Given the description of an element on the screen output the (x, y) to click on. 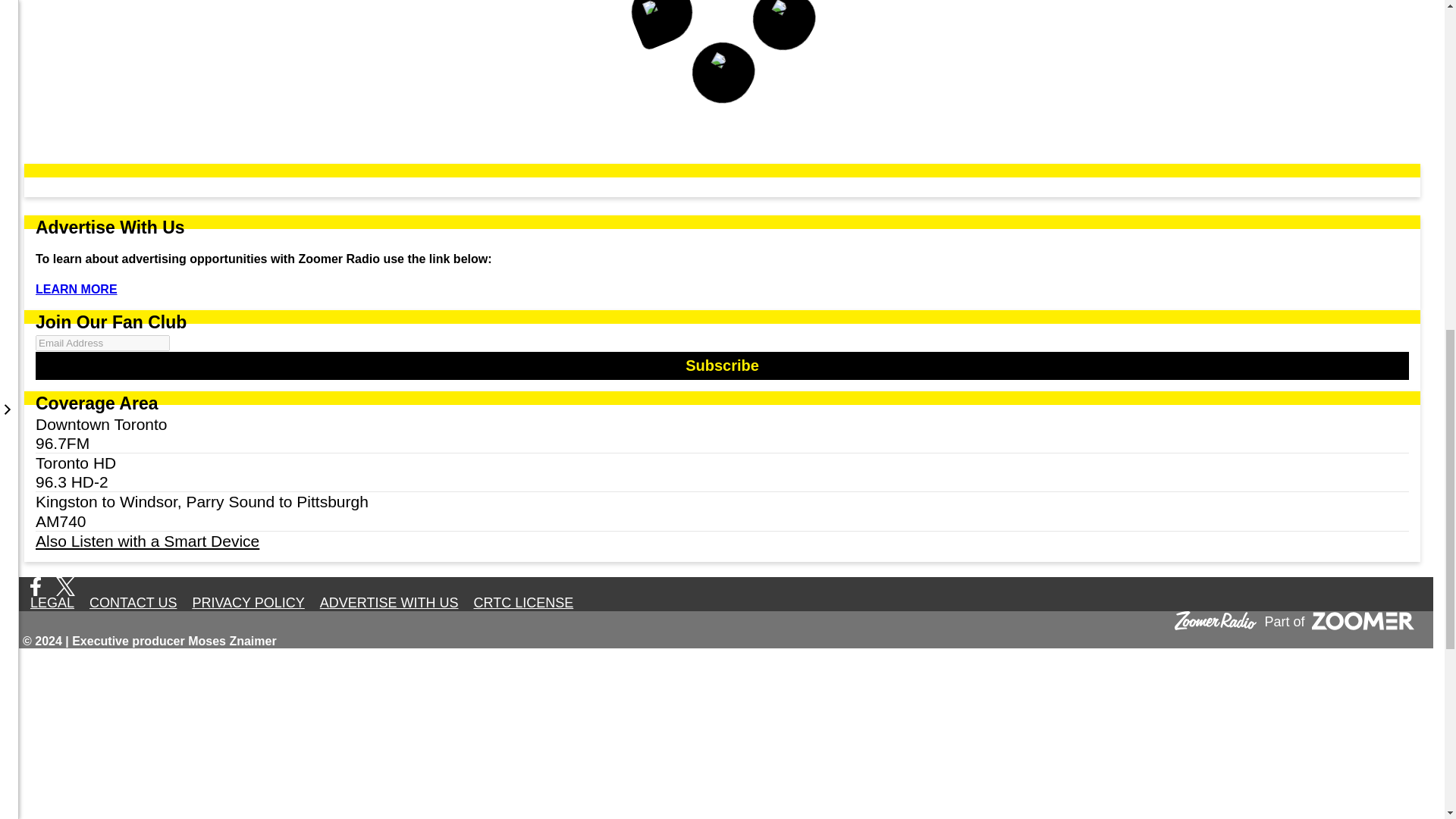
LEGAL (52, 602)
Subscribe (721, 366)
CONTACT US (132, 602)
Also Listen with a Smart Device (721, 540)
PRIVACY POLICY (247, 602)
LEARN MORE (75, 289)
CRTC LICENSE (522, 602)
ADVERTISE WITH US (389, 602)
